Given the description of an element on the screen output the (x, y) to click on. 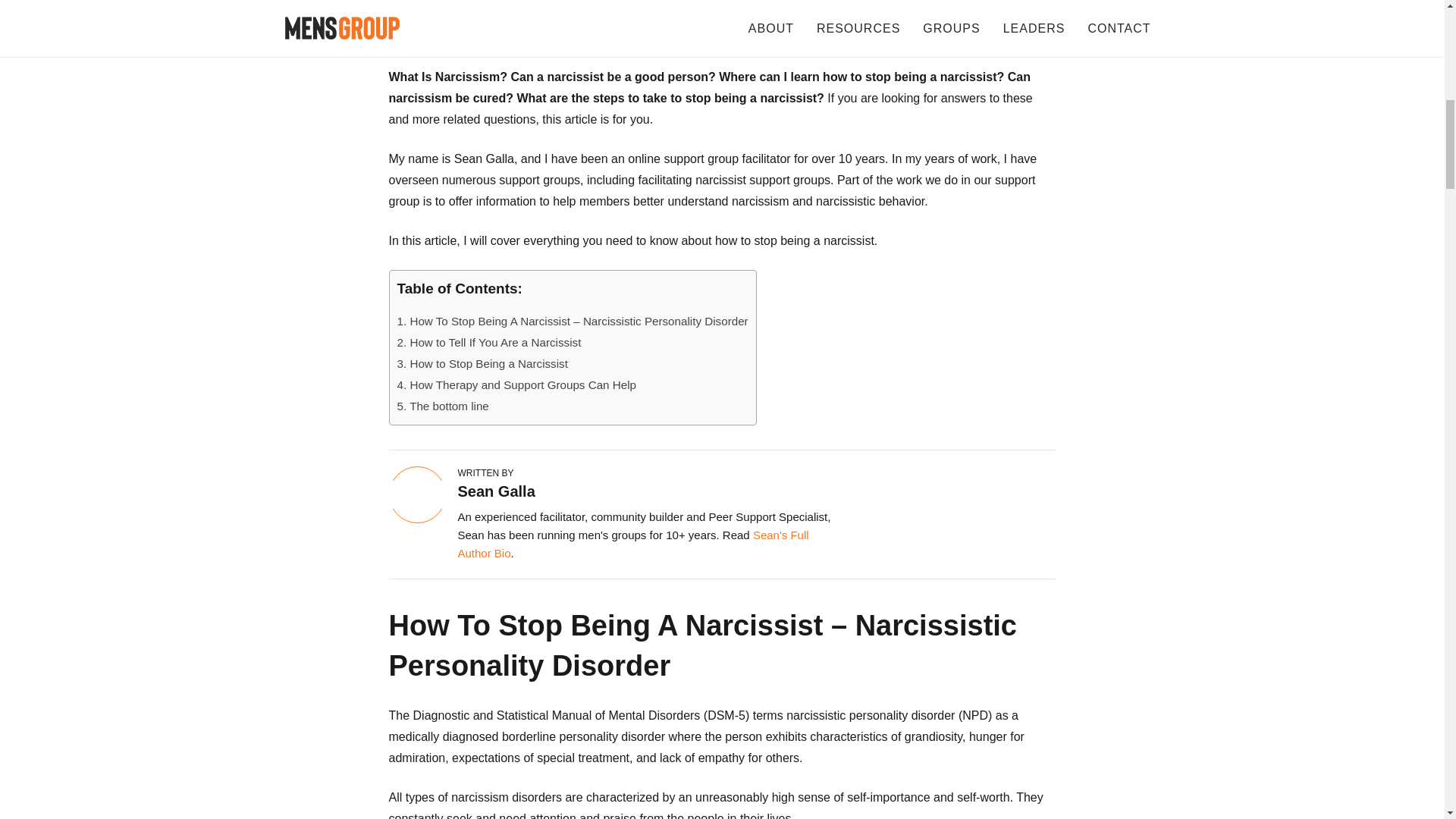
3 How to Stop Being a Narcissist (482, 363)
5 The bottom line (443, 405)
Back to top (1413, 30)
Sean's Full Author Bio (633, 543)
4 How Therapy and Support Groups Can Help (516, 384)
2 How to Tell If You Are a Narcissist (488, 341)
